Given the description of an element on the screen output the (x, y) to click on. 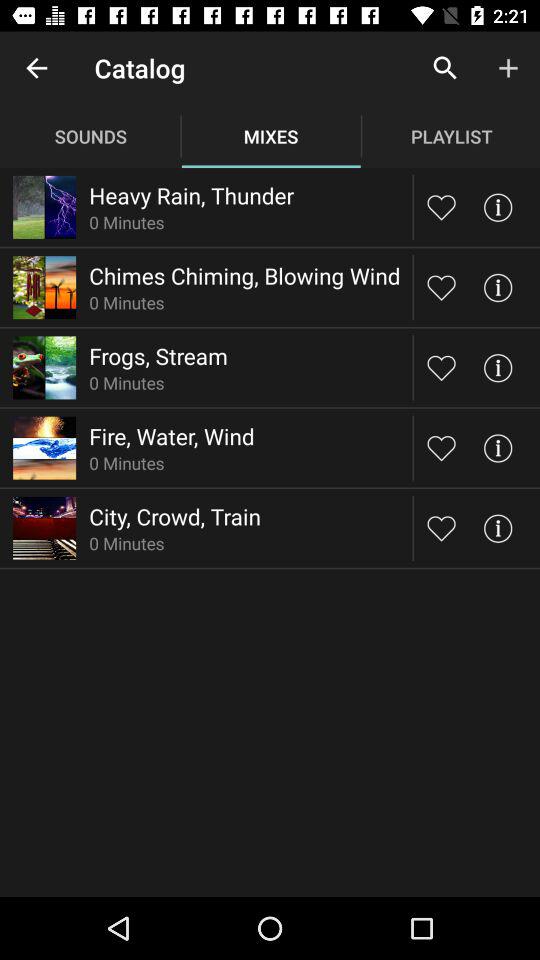
like song option (441, 287)
